Given the description of an element on the screen output the (x, y) to click on. 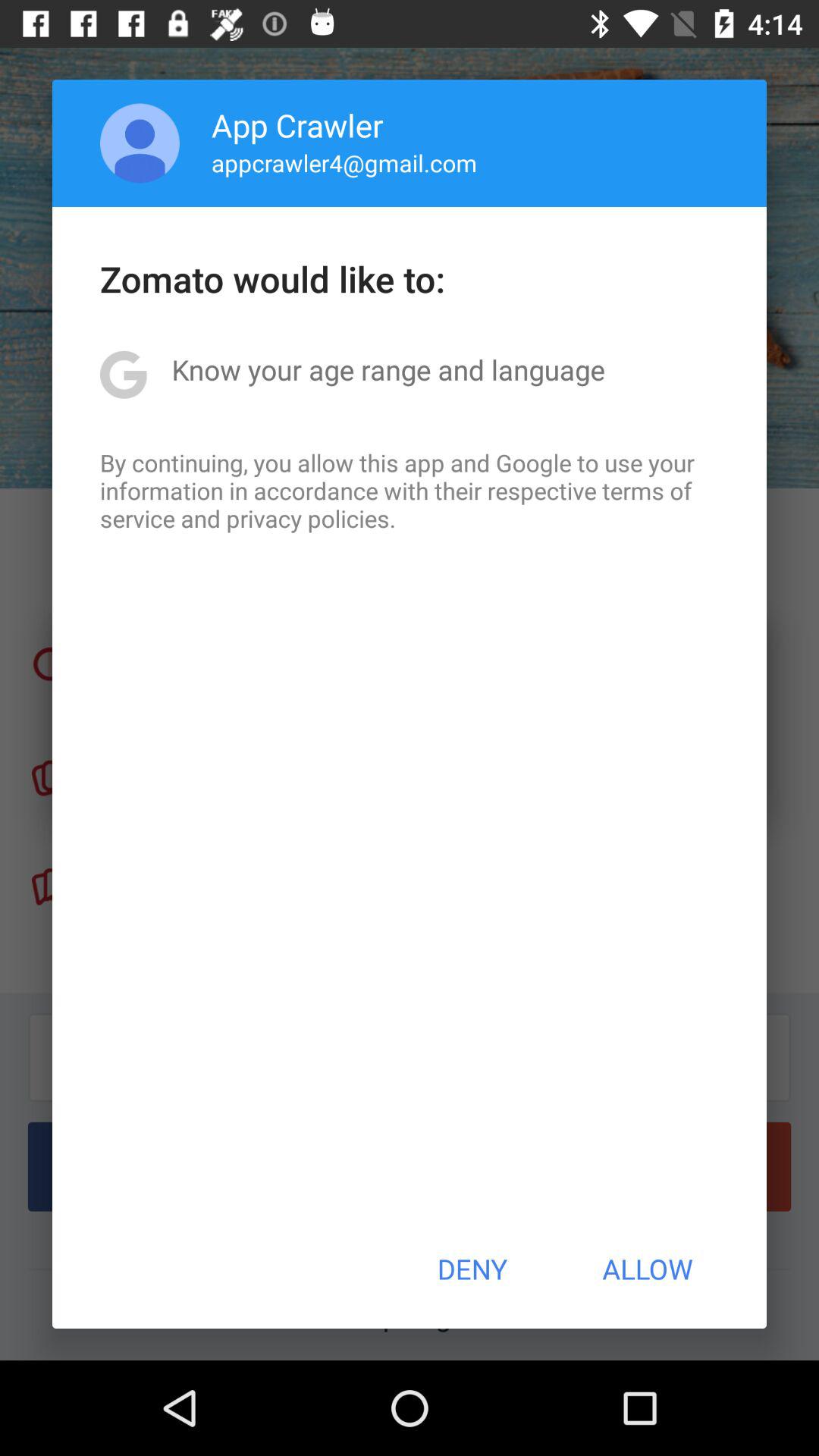
select the item below zomato would like app (388, 369)
